Given the description of an element on the screen output the (x, y) to click on. 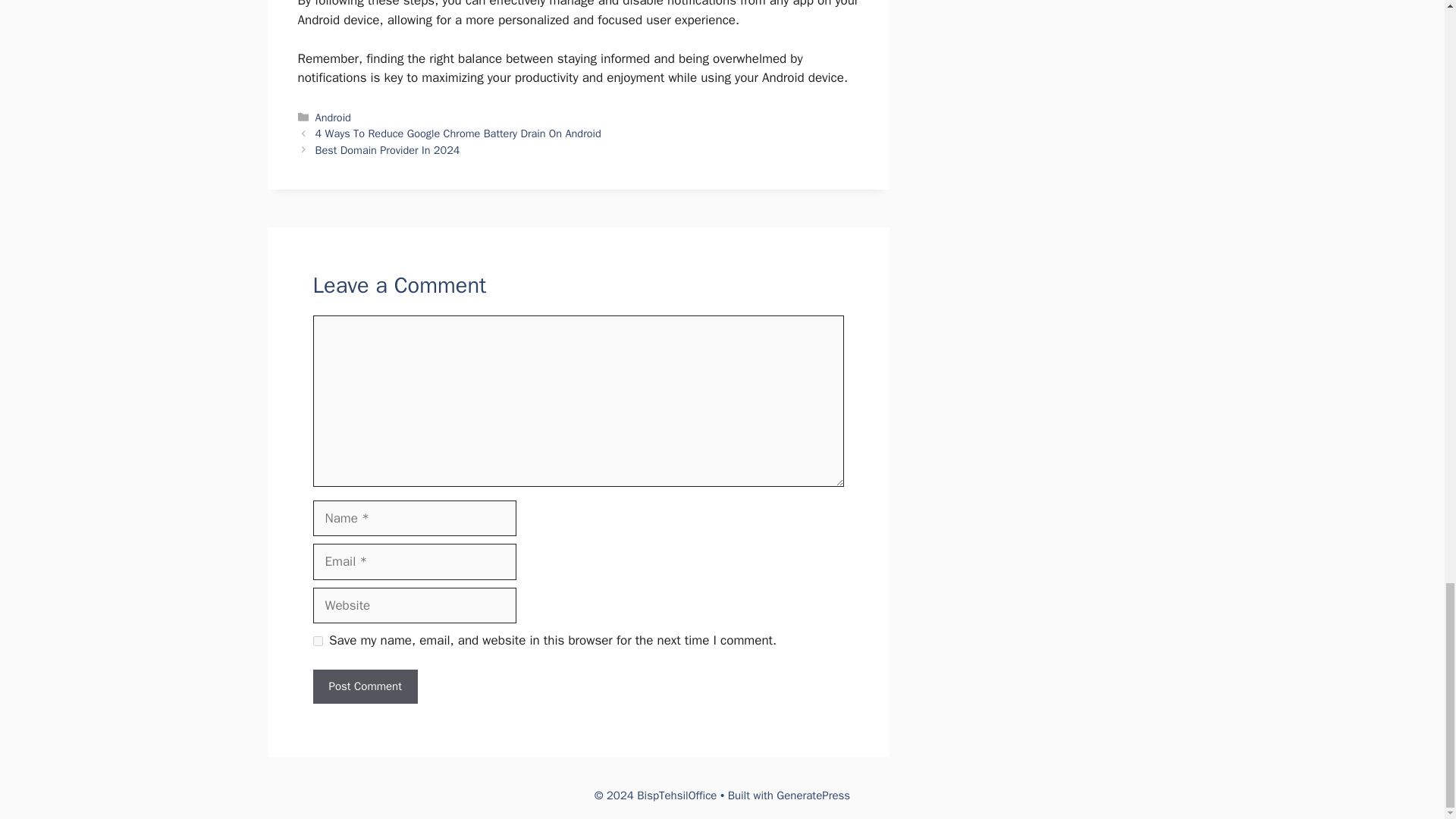
Android (332, 117)
yes (317, 641)
Best Domain Provider In 2024 (387, 150)
4 Ways To Reduce Google Chrome Battery Drain On Android (458, 133)
GeneratePress (813, 795)
Post Comment (364, 686)
Post Comment (364, 686)
